Given the description of an element on the screen output the (x, y) to click on. 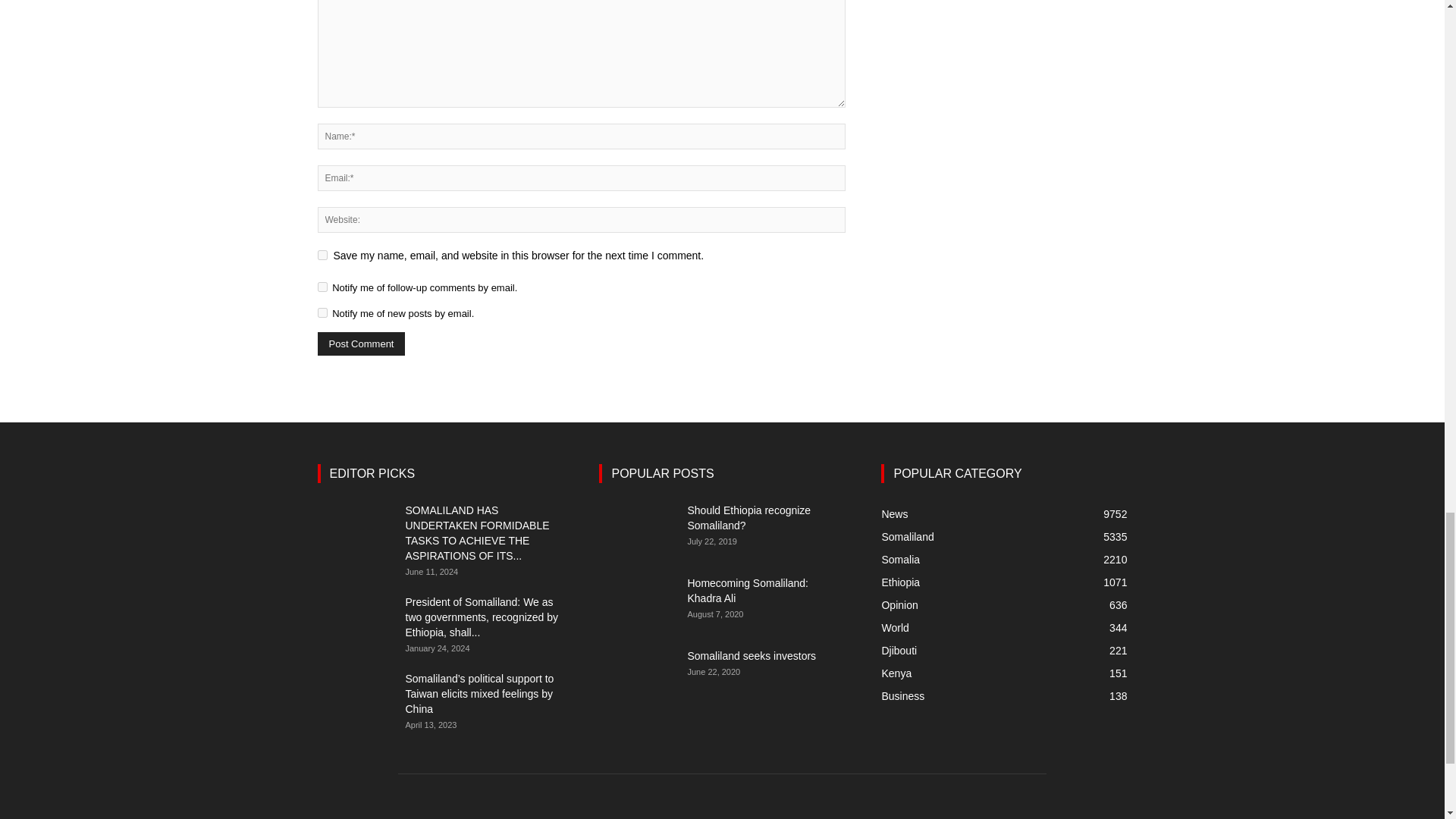
subscribe (321, 312)
subscribe (321, 286)
yes (321, 255)
Post Comment (360, 343)
